Given the description of an element on the screen output the (x, y) to click on. 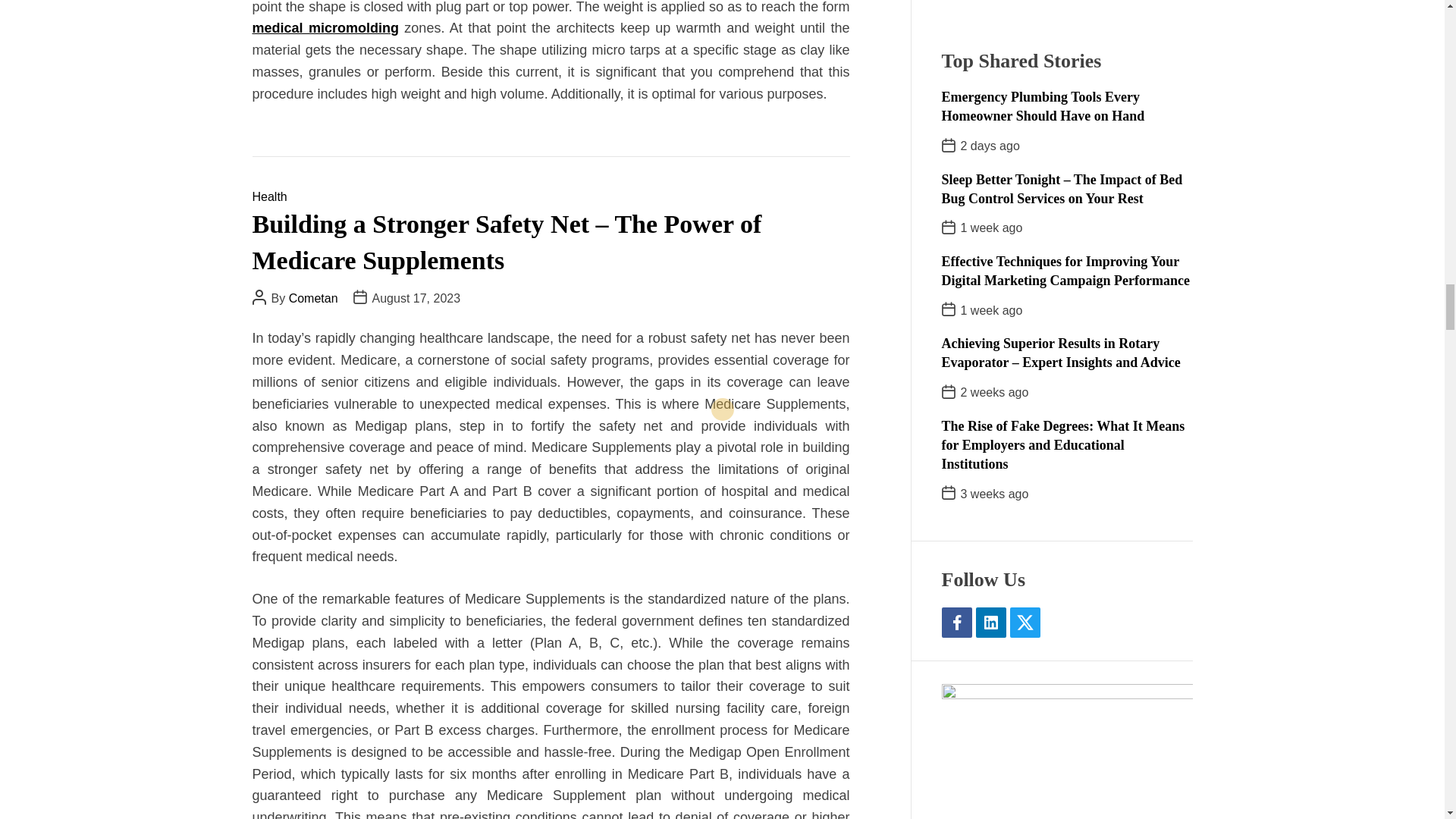
Cometan (312, 297)
Health (268, 196)
medical micromolding (324, 28)
